Given the description of an element on the screen output the (x, y) to click on. 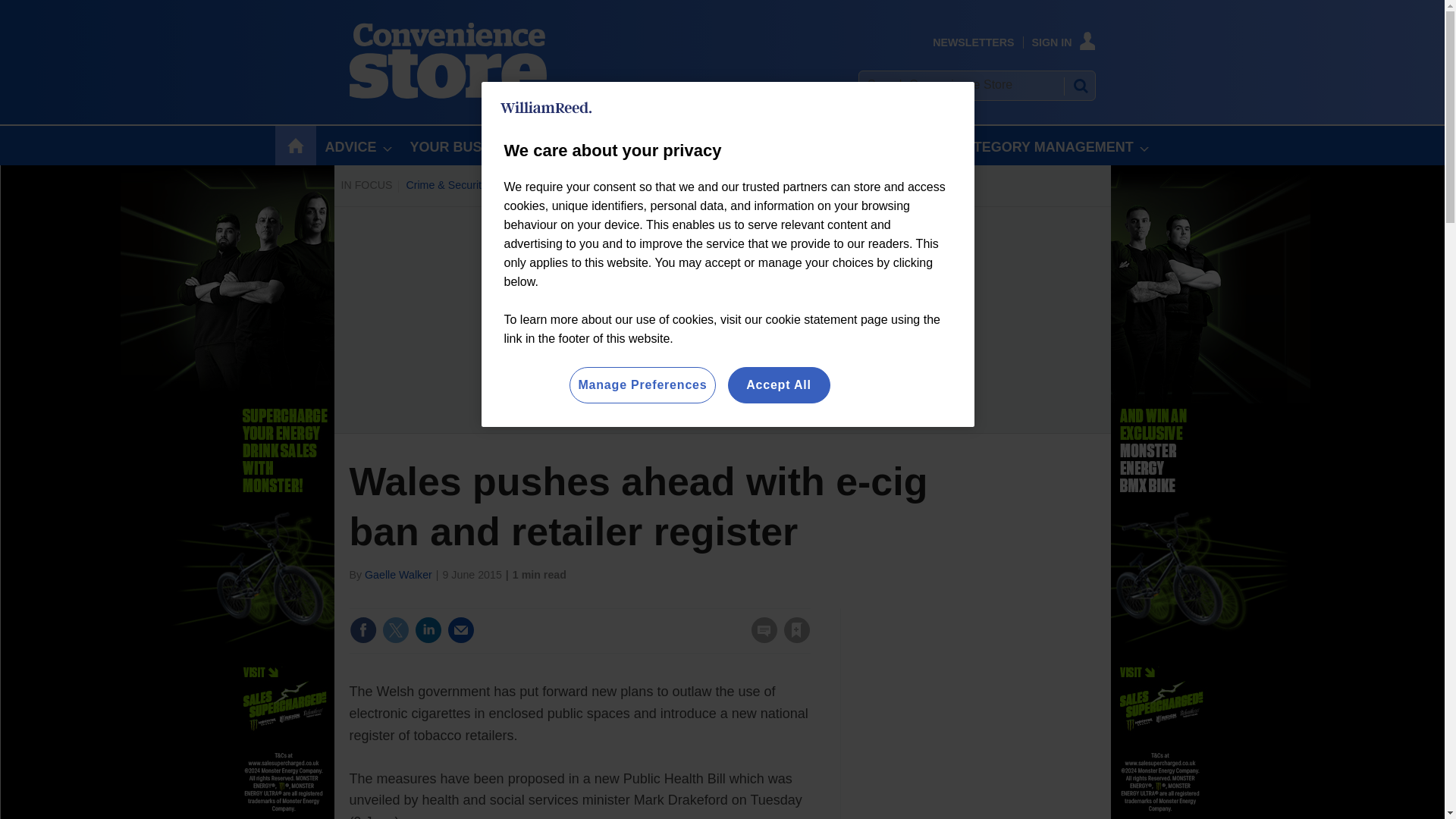
No comments (759, 639)
Site name (447, 93)
Post Office Horizon (645, 184)
Category Management (760, 184)
Share this on Twitter (395, 629)
Products in Depth (542, 184)
Share this on Facebook (362, 629)
NEWSLETTERS (973, 42)
William Reed (545, 107)
Share this on Linked in (427, 629)
